Given the description of an element on the screen output the (x, y) to click on. 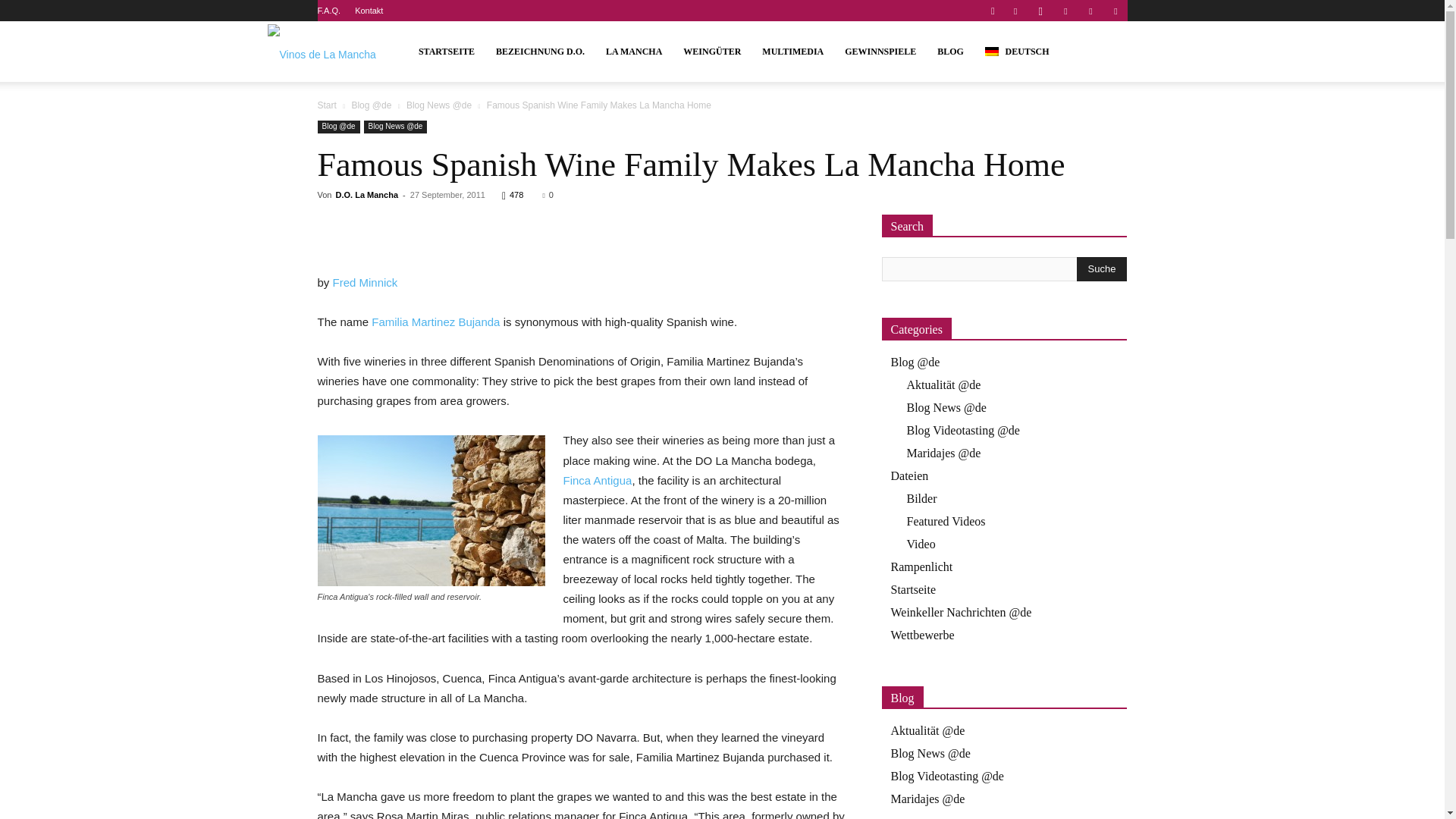
Suche (1101, 269)
Twitter (1090, 10)
Facebook (1015, 10)
Pinterest (1065, 10)
Suche (1086, 64)
F.A.Q. (328, 10)
Kontakt (368, 10)
Instagram (1040, 10)
